Given the description of an element on the screen output the (x, y) to click on. 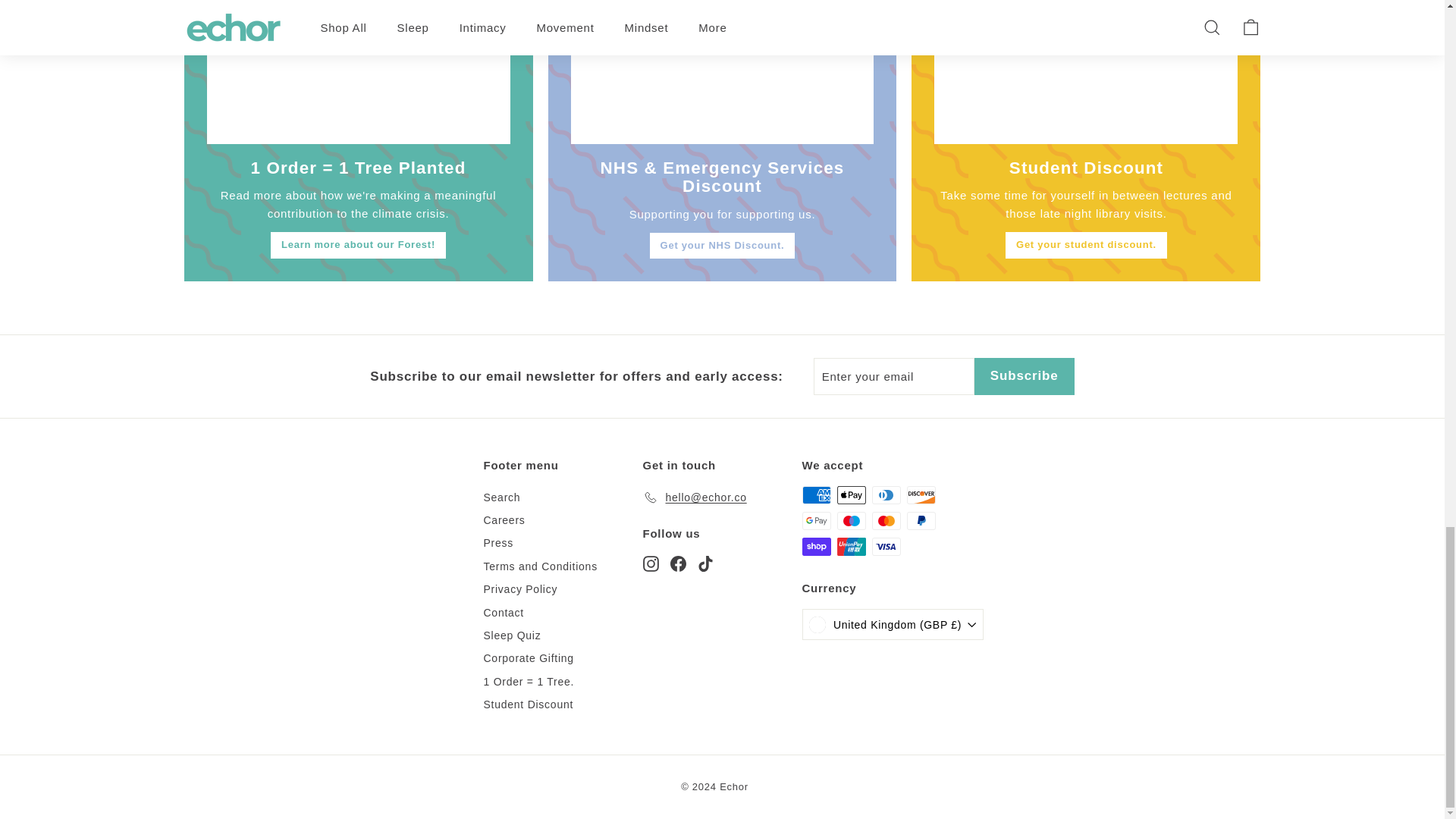
Google Pay (816, 520)
Echor on TikTok (705, 562)
Echor on Facebook (677, 562)
Maestro (851, 520)
Echor on Instagram (651, 562)
Discover (921, 495)
Apple Pay (851, 495)
Diners Club (886, 495)
American Express (816, 495)
